Given the description of an element on the screen output the (x, y) to click on. 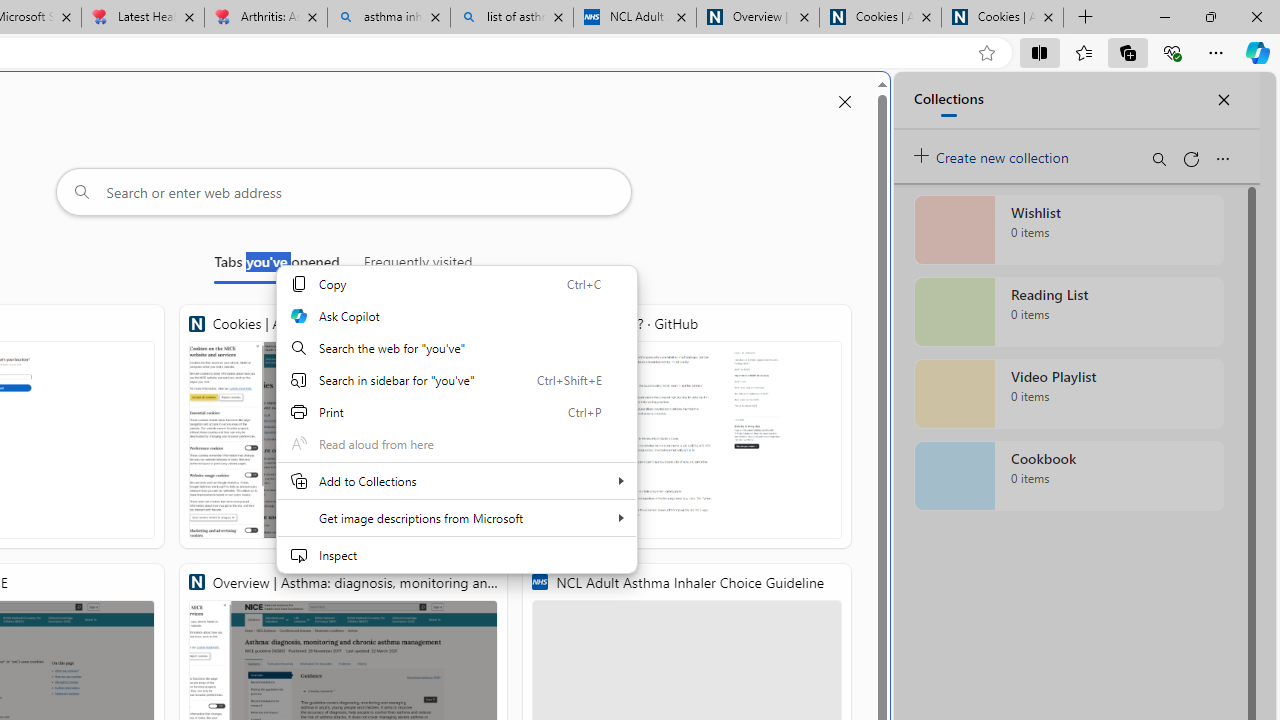
Search in sidebar for "you've" (456, 380)
Add to Collections (456, 480)
asthma inhaler - Search (388, 17)
Cookies | About | NICE (1002, 17)
Search the web for "you've" (456, 347)
Close split screen (844, 102)
Copy (456, 283)
Read aloud from here (456, 443)
